Given the description of an element on the screen output the (x, y) to click on. 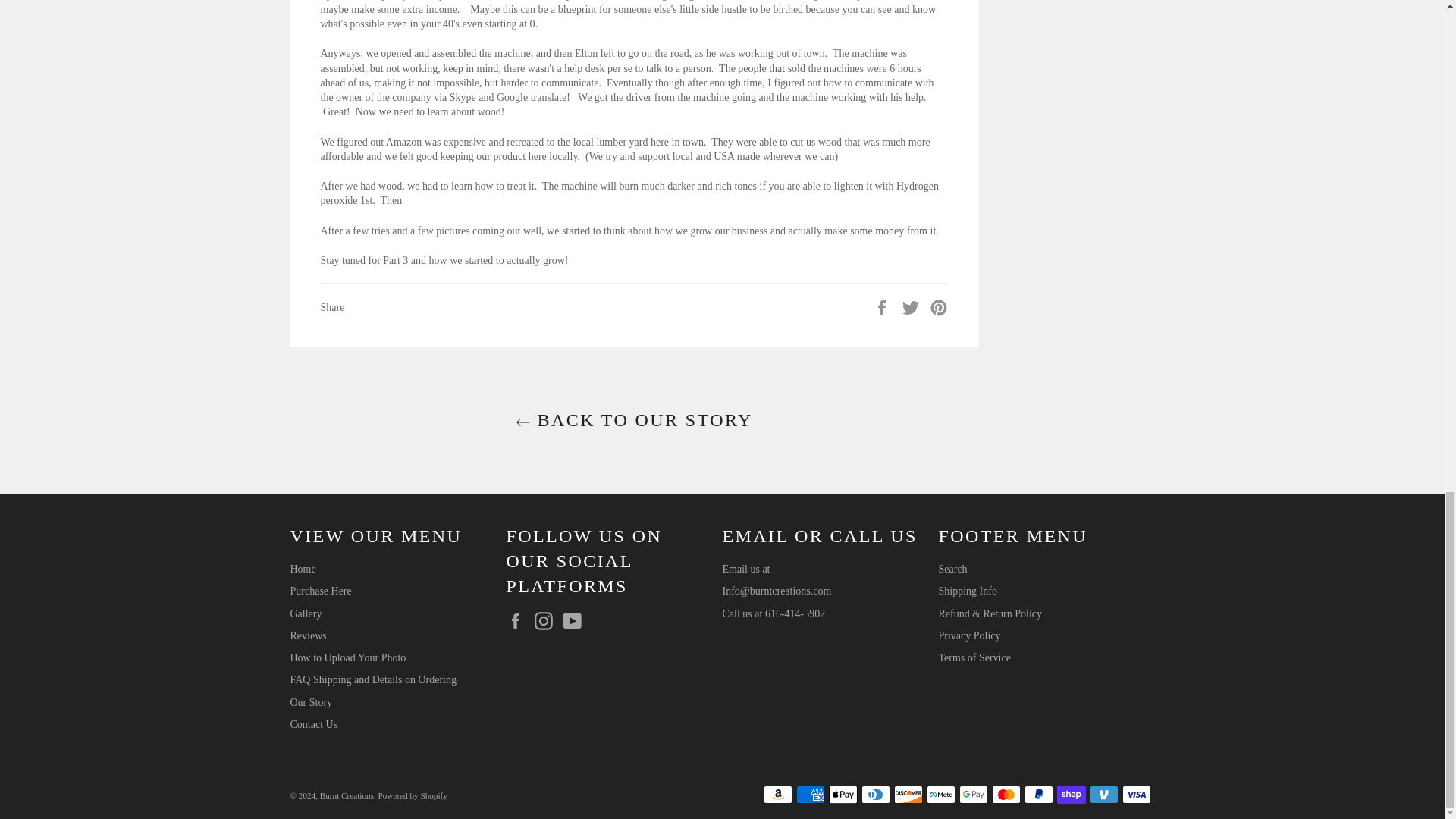
Share on Facebook (882, 306)
Burnt Creations on Facebook (519, 620)
Burnt Creations on Instagram (547, 620)
Tweet on Twitter (912, 306)
Burnt Creations on YouTube (575, 620)
Pin on Pinterest (938, 306)
